Given the description of an element on the screen output the (x, y) to click on. 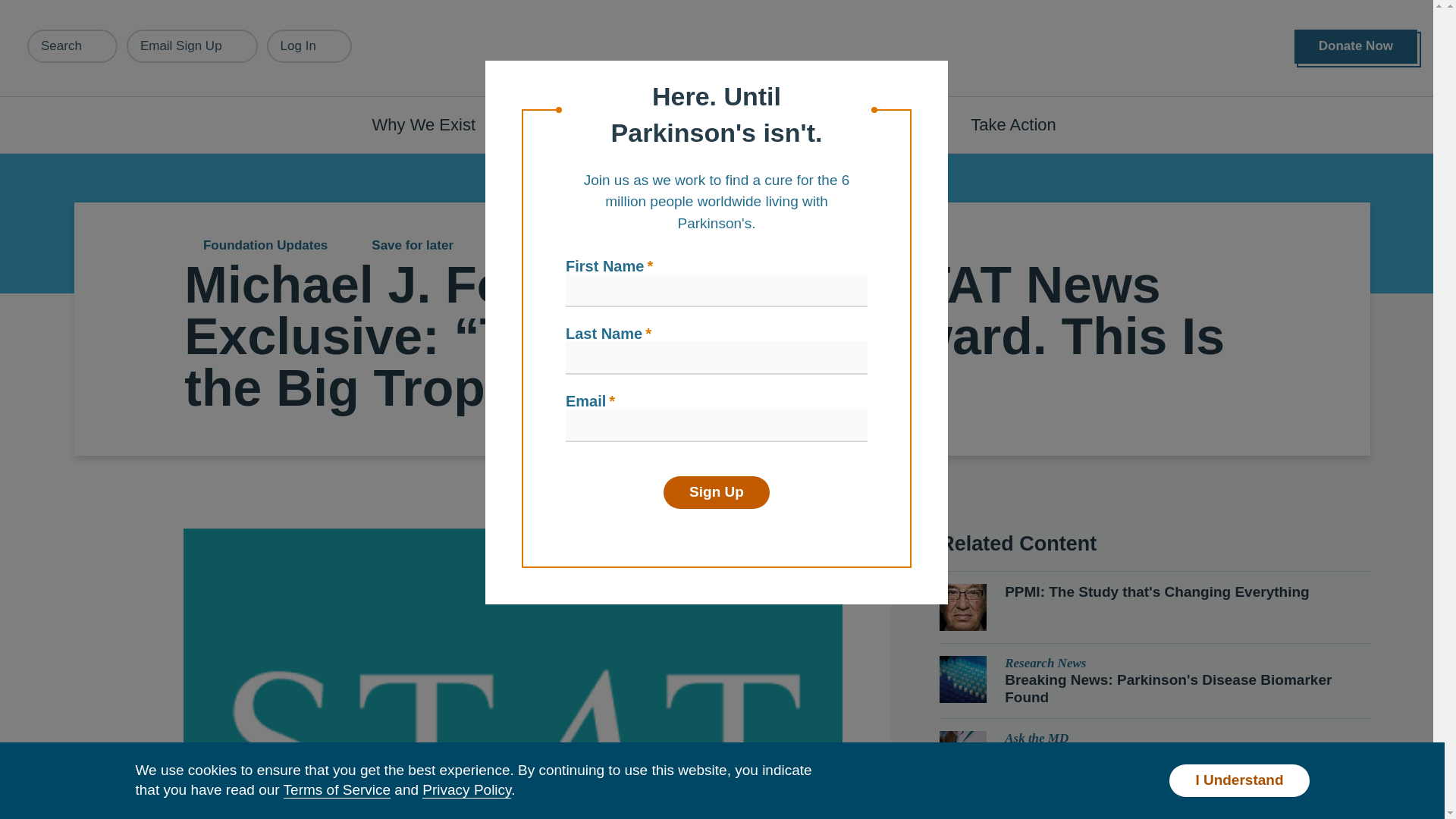
Understanding Parkinson's (640, 125)
Donate Now (1355, 46)
Home Page (722, 48)
Why We Exist (432, 125)
Log In (309, 46)
Search (72, 46)
Email Sign Up (191, 46)
Skip to main content (96, 7)
